Given the description of an element on the screen output the (x, y) to click on. 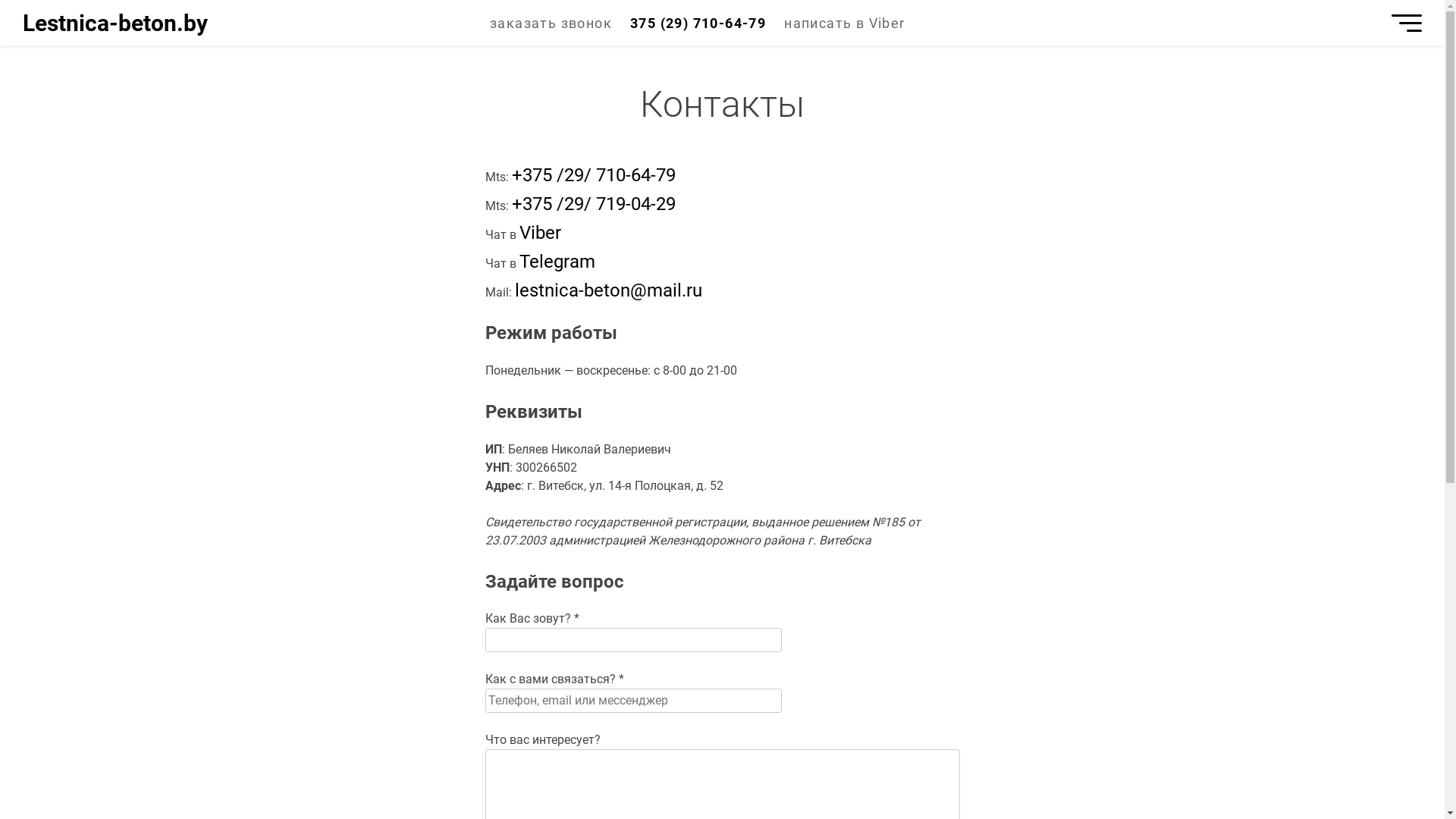
+375 /29/ 710-64-79 Element type: text (592, 174)
375 (29) 710-64-79 Element type: text (697, 22)
+375 /29/ 719-04-29 Element type: text (592, 203)
Telegram Element type: text (556, 261)
lestnica-beton@mail.ru Element type: text (607, 290)
Viber Element type: text (539, 232)
Lestnica-beton.by Element type: text (114, 22)
